Given the description of an element on the screen output the (x, y) to click on. 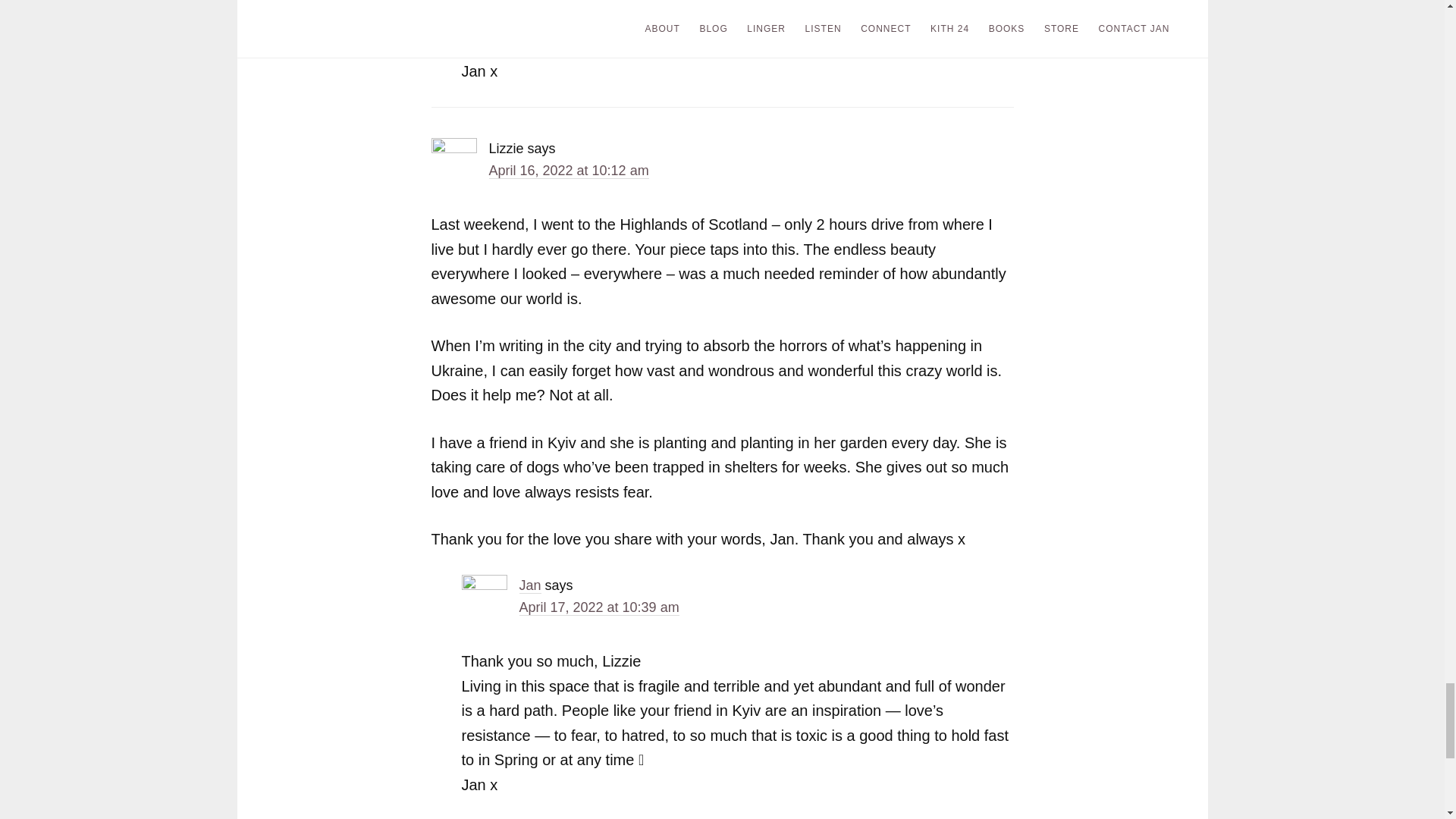
April 16, 2022 at 10:12 am (567, 170)
April 17, 2022 at 10:39 am (598, 607)
Jan (529, 585)
